Given the description of an element on the screen output the (x, y) to click on. 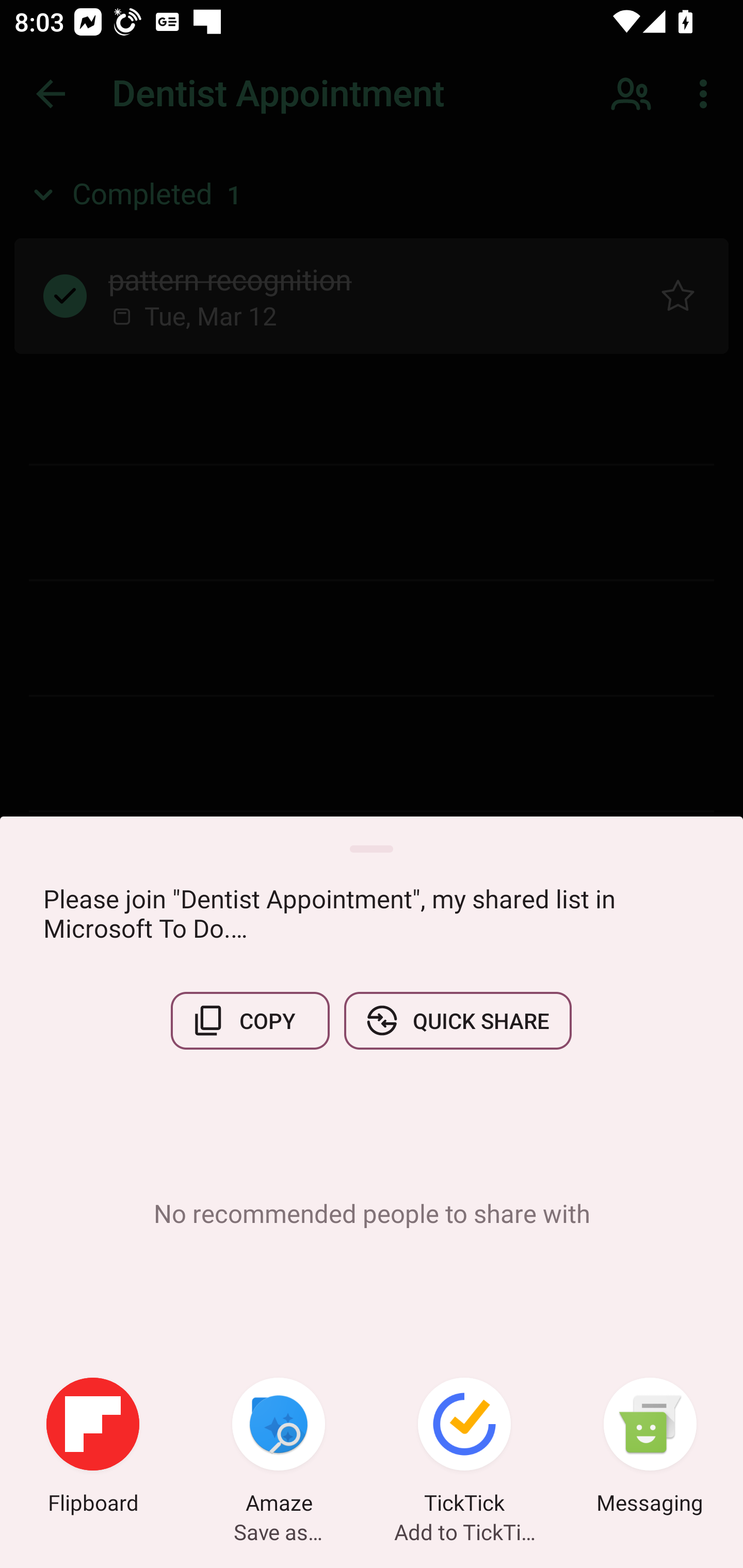
COPY (249, 1020)
QUICK SHARE (457, 1020)
Flipboard (92, 1448)
Amaze Save as… (278, 1448)
TickTick Add to TickTick (464, 1448)
Messaging (650, 1448)
